Given the description of an element on the screen output the (x, y) to click on. 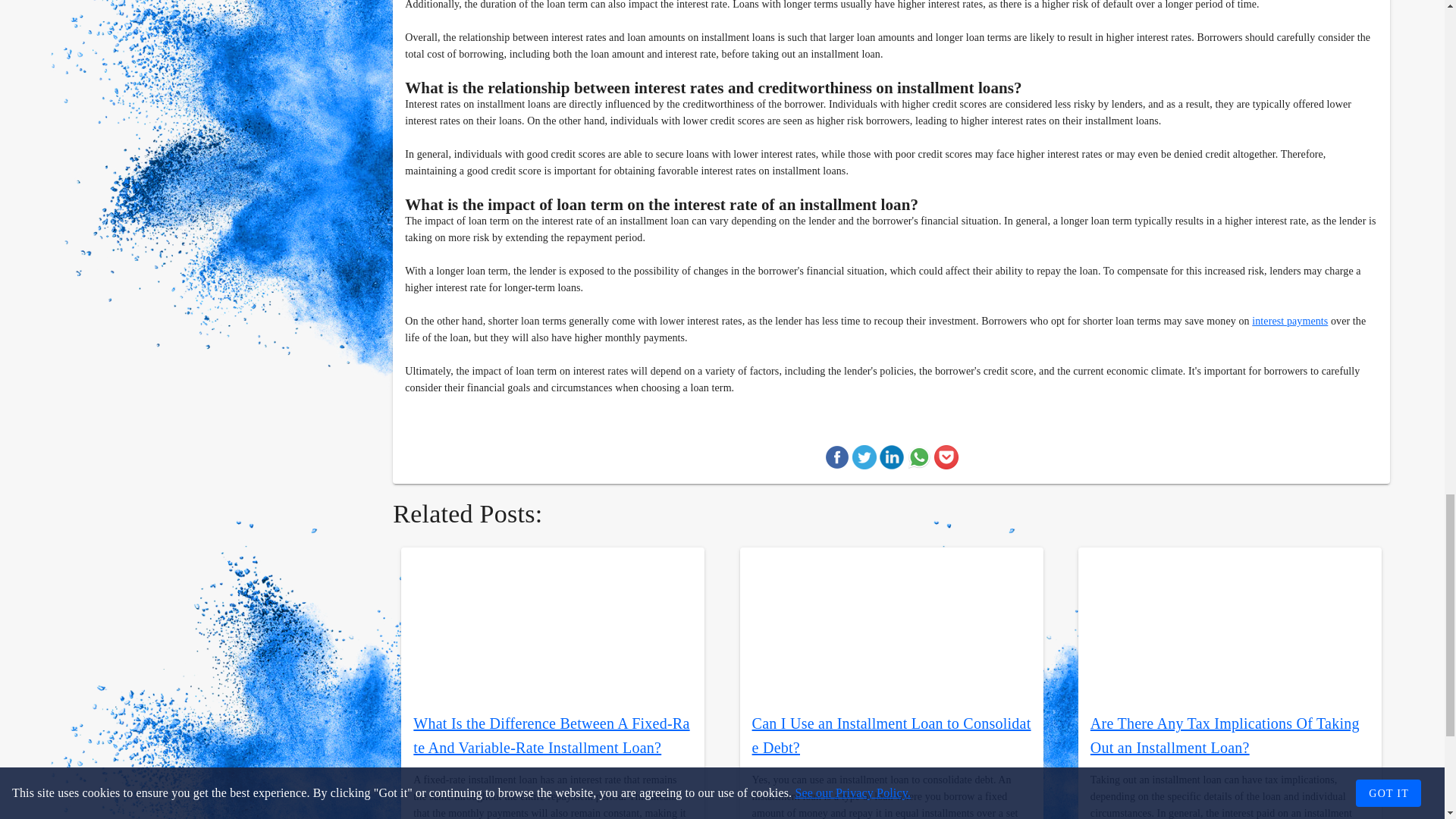
interest payments (1289, 320)
